Given the description of an element on the screen output the (x, y) to click on. 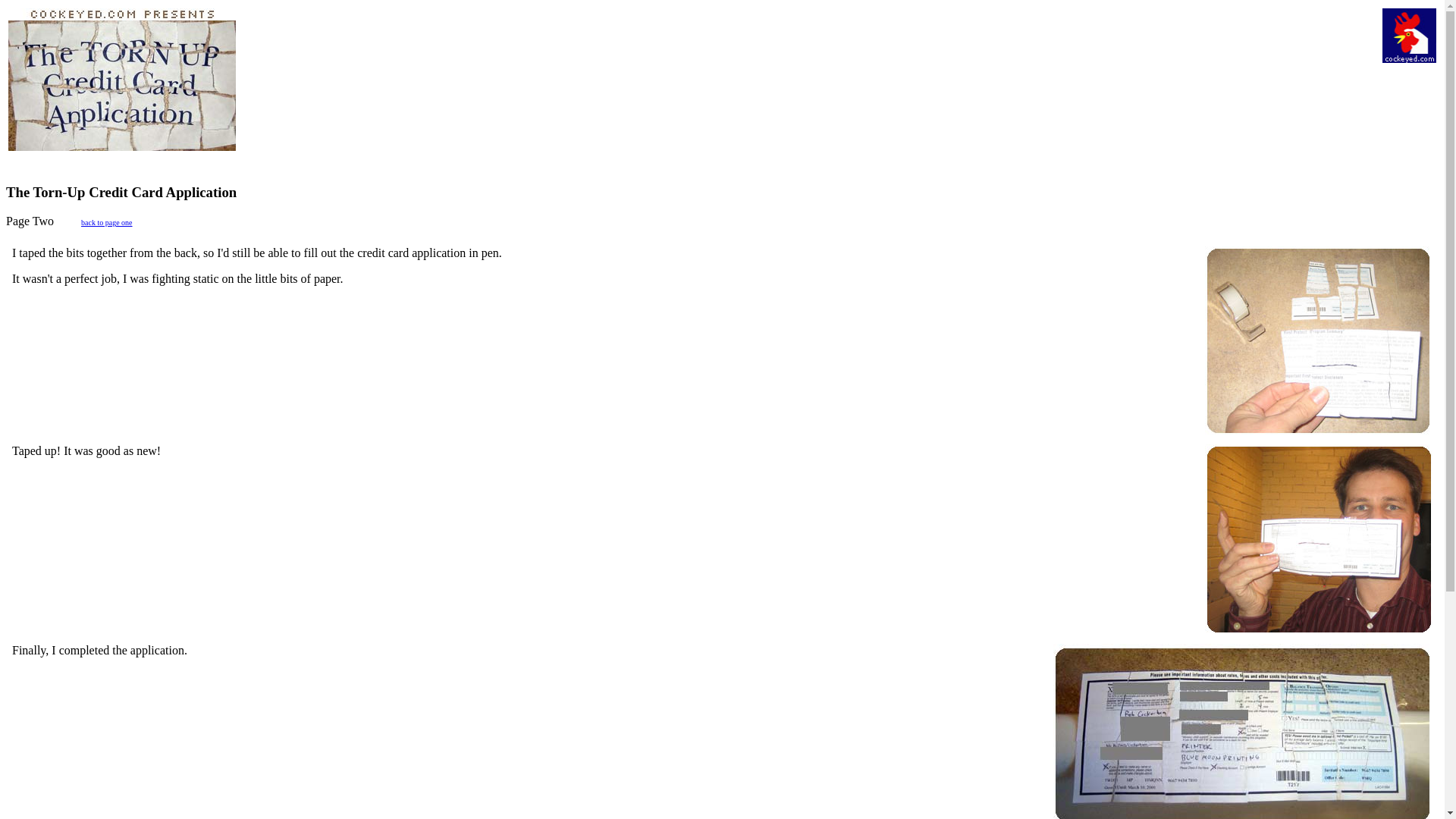
Advertisement (873, 42)
back to page one (106, 222)
